Given the description of an element on the screen output the (x, y) to click on. 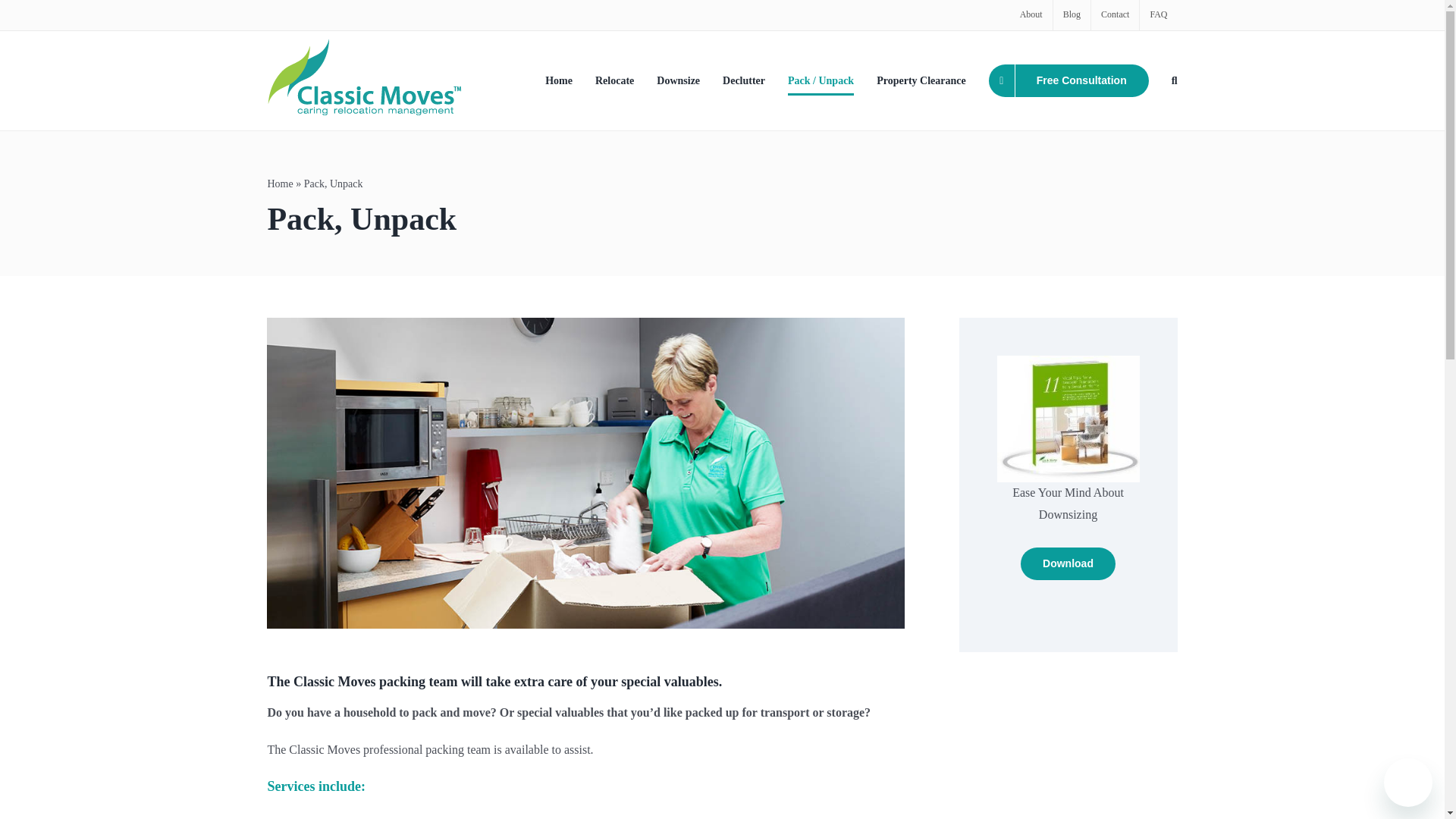
Free Consultation (1068, 80)
Blog (1071, 15)
About (1031, 15)
Property Clearance (921, 80)
Contact (1114, 15)
FAQ (1158, 15)
